Given the description of an element on the screen output the (x, y) to click on. 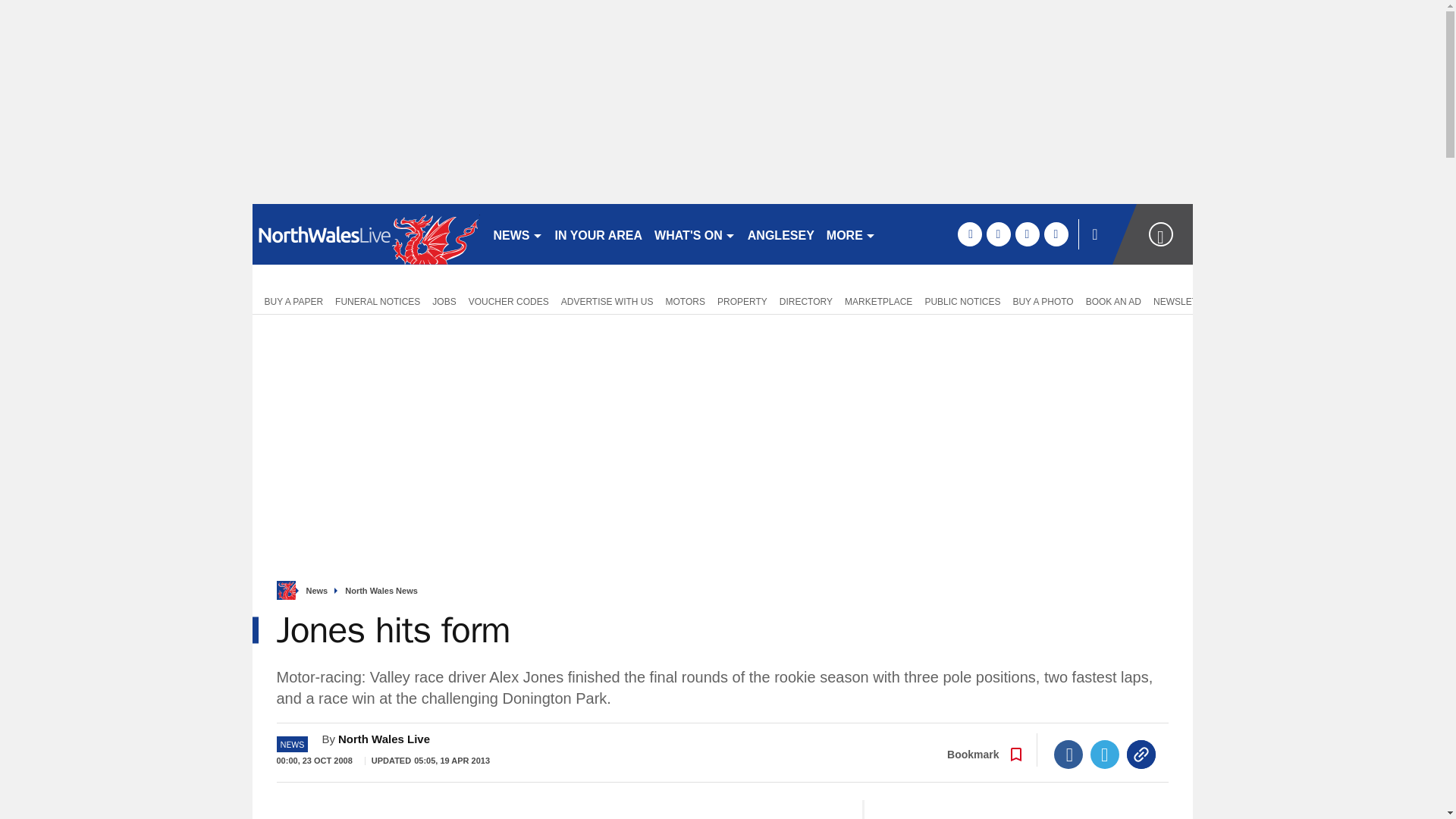
MORE (851, 233)
twitter (997, 233)
FUNERAL NOTICES (377, 300)
northwales (365, 233)
JOBS (443, 300)
pinterest (1026, 233)
WHAT'S ON (694, 233)
IN YOUR AREA (598, 233)
NEWS (517, 233)
MOTORS (685, 300)
